Given the description of an element on the screen output the (x, y) to click on. 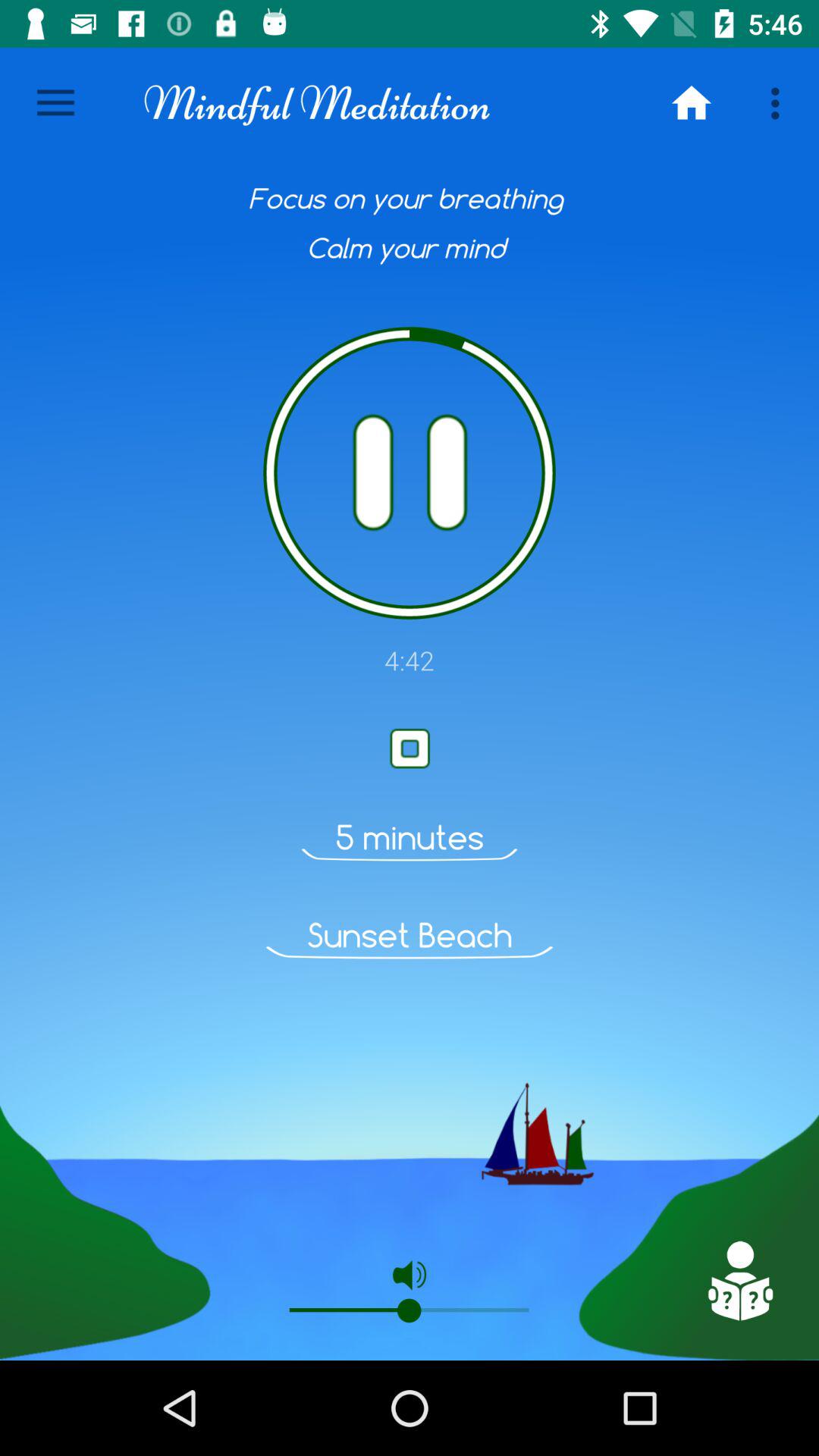
choose sunset beach (409, 935)
